Given the description of an element on the screen output the (x, y) to click on. 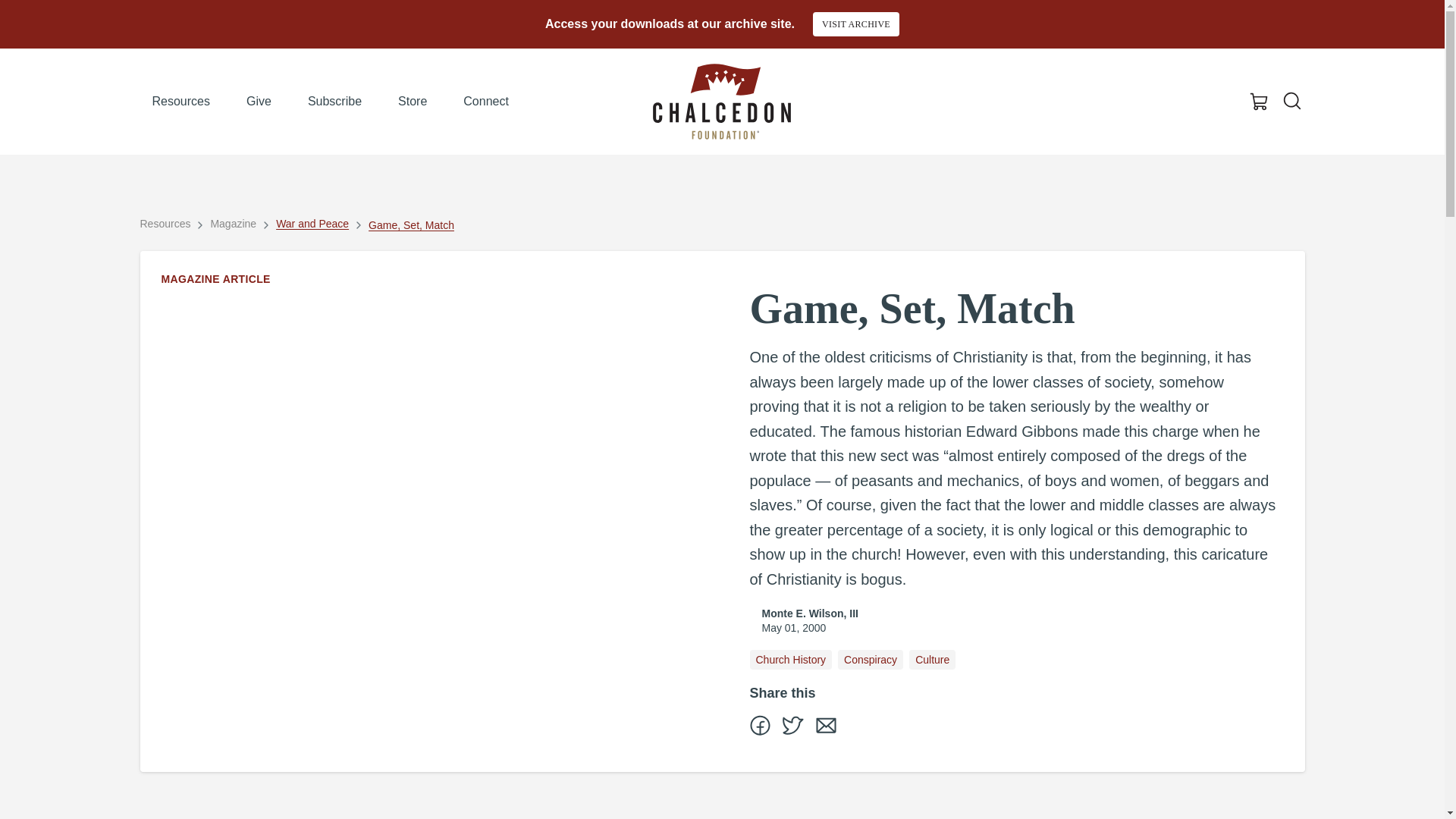
Connect (486, 101)
Magazine (232, 223)
View Cart (1258, 101)
Church History (790, 659)
Store (412, 101)
Resources (164, 223)
Give (258, 101)
Chalcedon (721, 101)
Subscribe (334, 101)
Culture (931, 659)
VISIT ARCHIVE (855, 24)
Conspiracy (870, 659)
Game, Set, Match (411, 224)
Resources (180, 101)
War and Peace (312, 223)
